Given the description of an element on the screen output the (x, y) to click on. 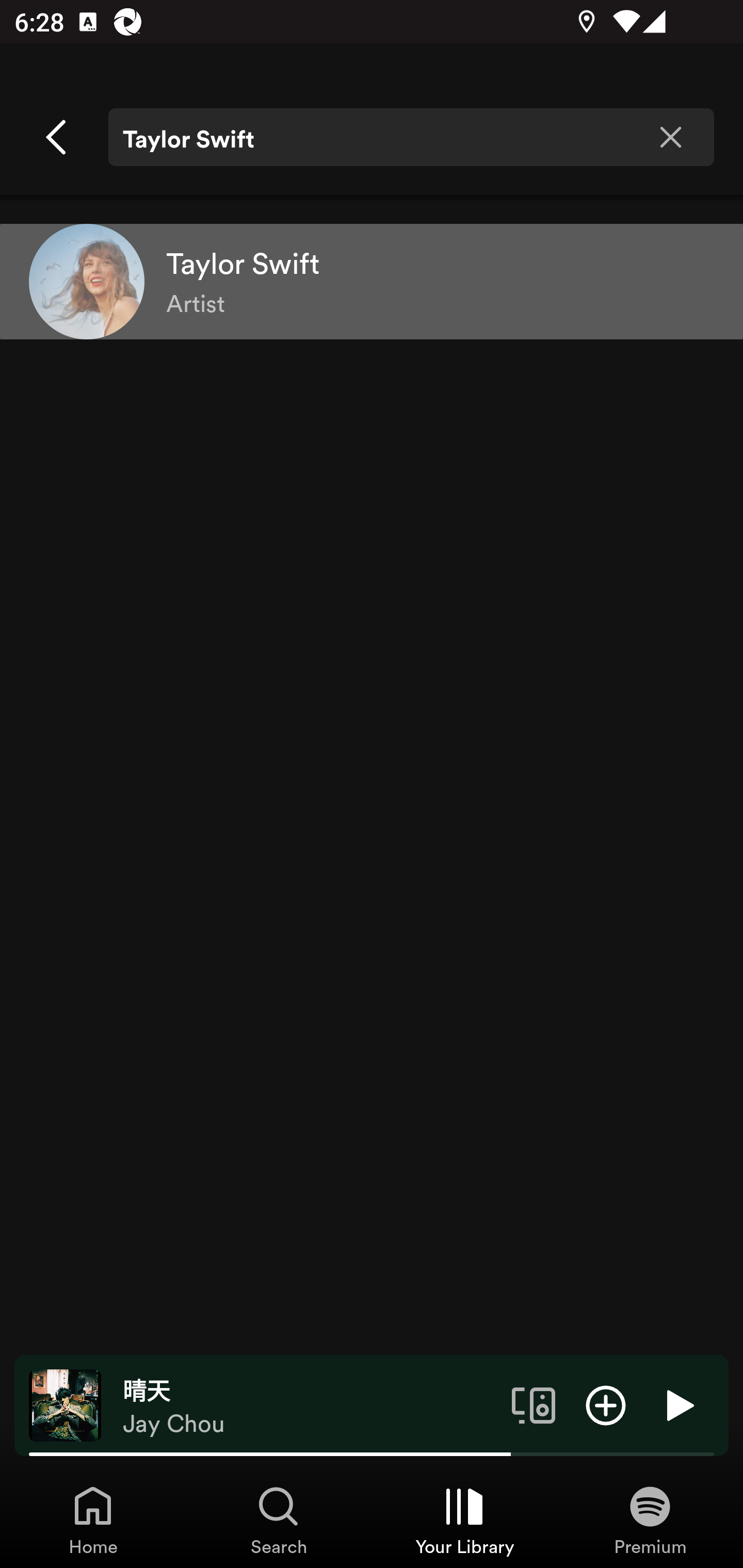
Cancel (57, 137)
Taylor Swift (411, 137)
Clear (670, 137)
Taylor Swift, Artist,  Taylor Swift Artist (371, 281)
晴天 Jay Chou (309, 1405)
The cover art of the currently playing track (64, 1404)
Connect to a device. Opens the devices menu (533, 1404)
Add item (605, 1404)
Play (677, 1404)
Home, Tab 1 of 4 Home Home (92, 1519)
Search, Tab 2 of 4 Search Search (278, 1519)
Your Library, Tab 3 of 4 Your Library Your Library (464, 1519)
Premium, Tab 4 of 4 Premium Premium (650, 1519)
